Given the description of an element on the screen output the (x, y) to click on. 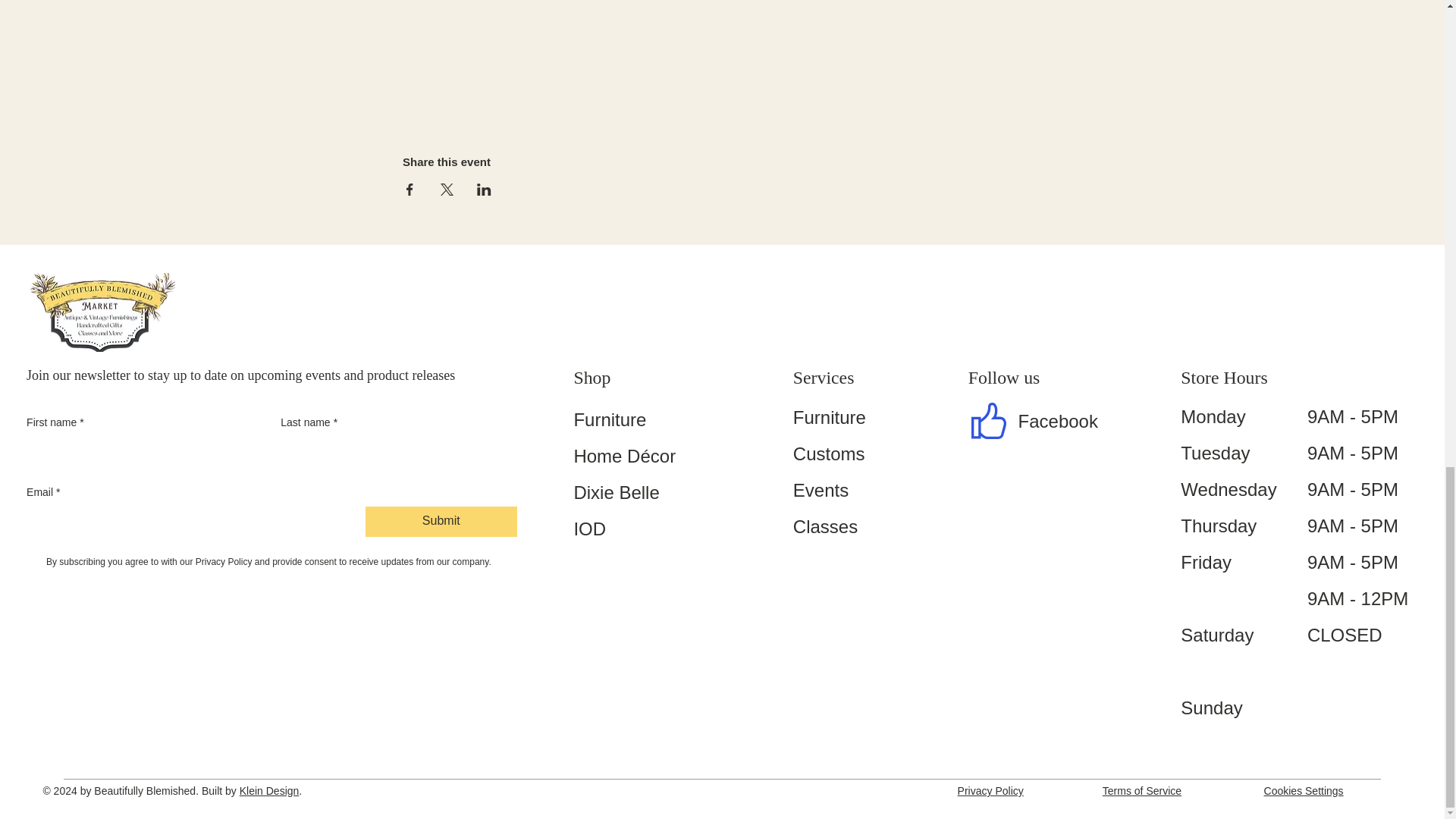
Terms of Service (1141, 790)
Privacy Policy (990, 790)
Klein Design (269, 790)
Submit (440, 521)
Cookies Settings (1303, 790)
